Given the description of an element on the screen output the (x, y) to click on. 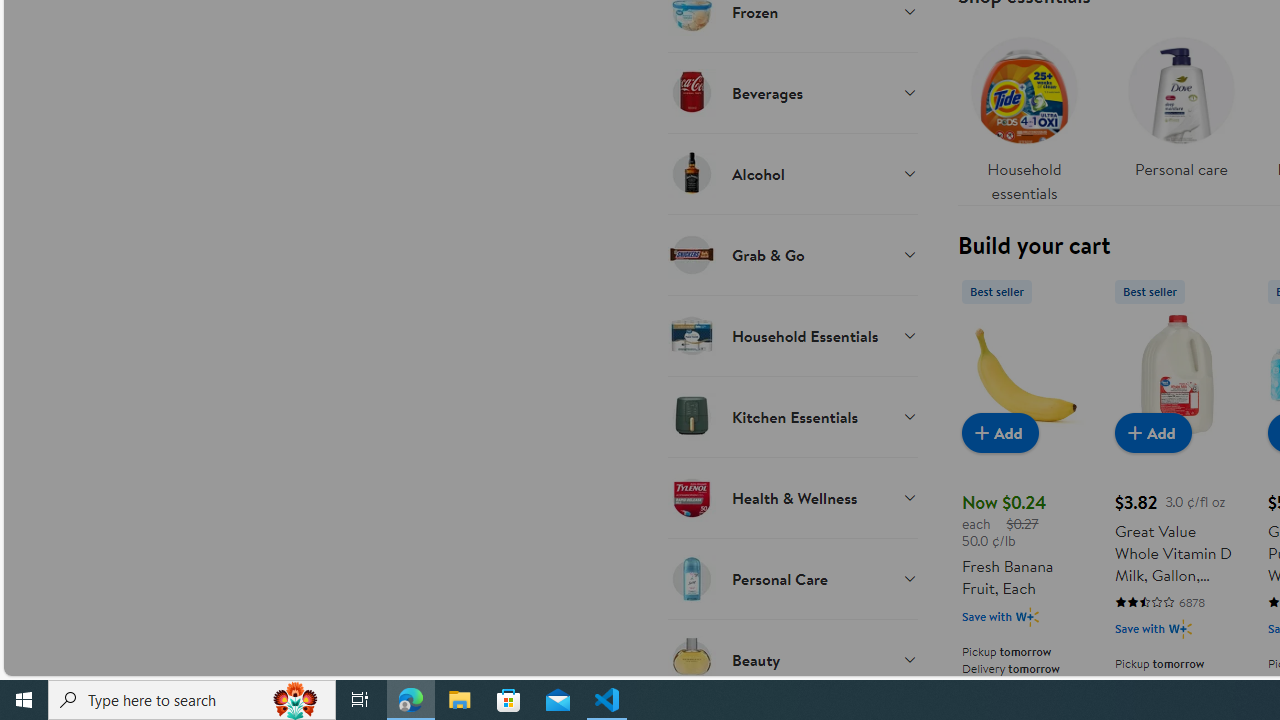
Household essentials (1023, 114)
Beauty (792, 659)
Alcohol (792, 173)
Beverages (792, 92)
Fresh Banana Fruit, Each (1024, 374)
Personal care (1180, 101)
Kitchen Essentials (792, 416)
Personal care (1180, 114)
Personal Care (792, 578)
